Given the description of an element on the screen output the (x, y) to click on. 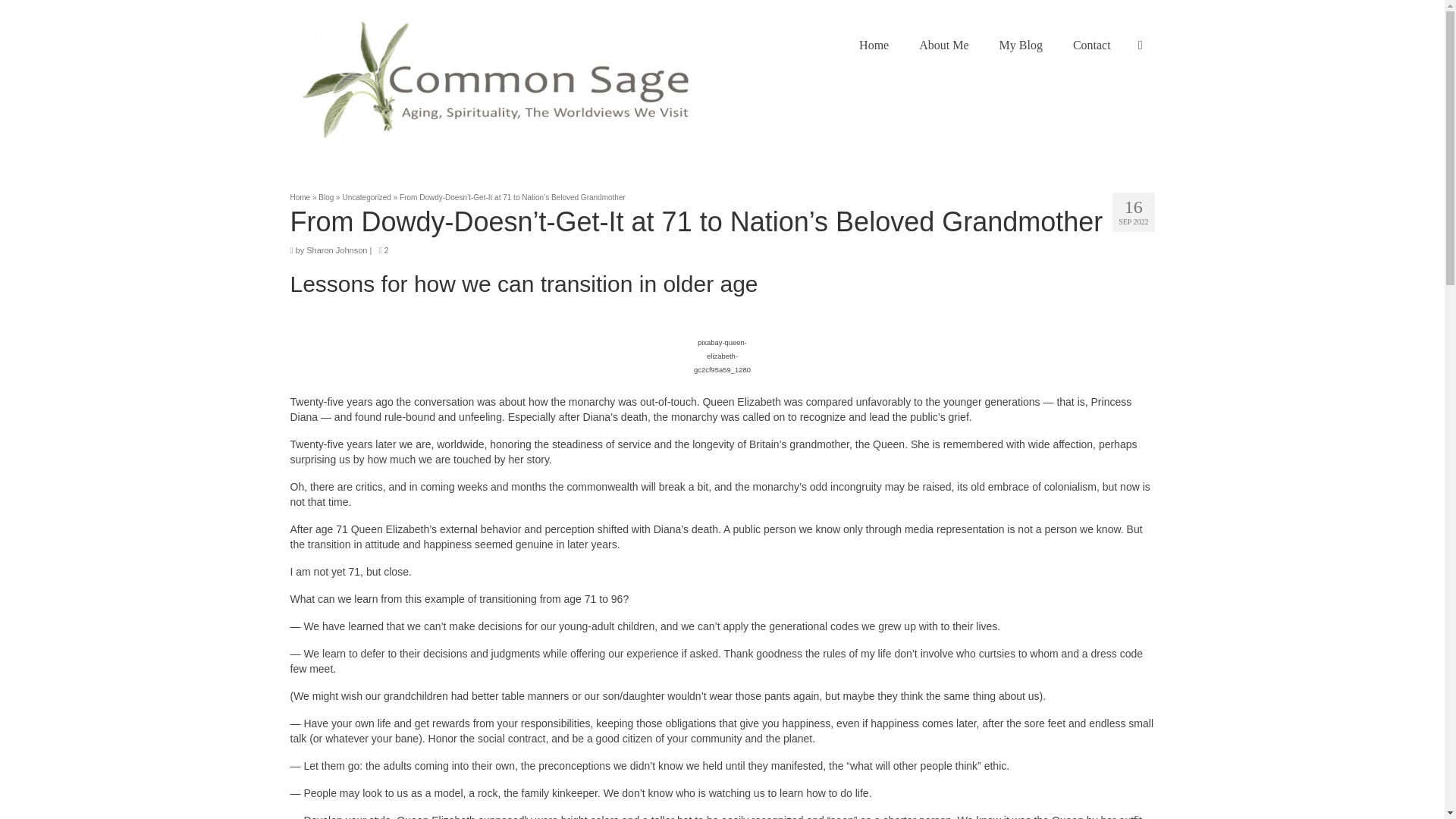
Home (299, 197)
Uncategorized (366, 197)
Sharon Johnson (335, 249)
Contact (1091, 45)
Blog (325, 197)
Common Sage (502, 78)
2 (383, 249)
My Blog (1021, 45)
Home (874, 45)
Search (1139, 45)
About Me (944, 45)
